Given the description of an element on the screen output the (x, y) to click on. 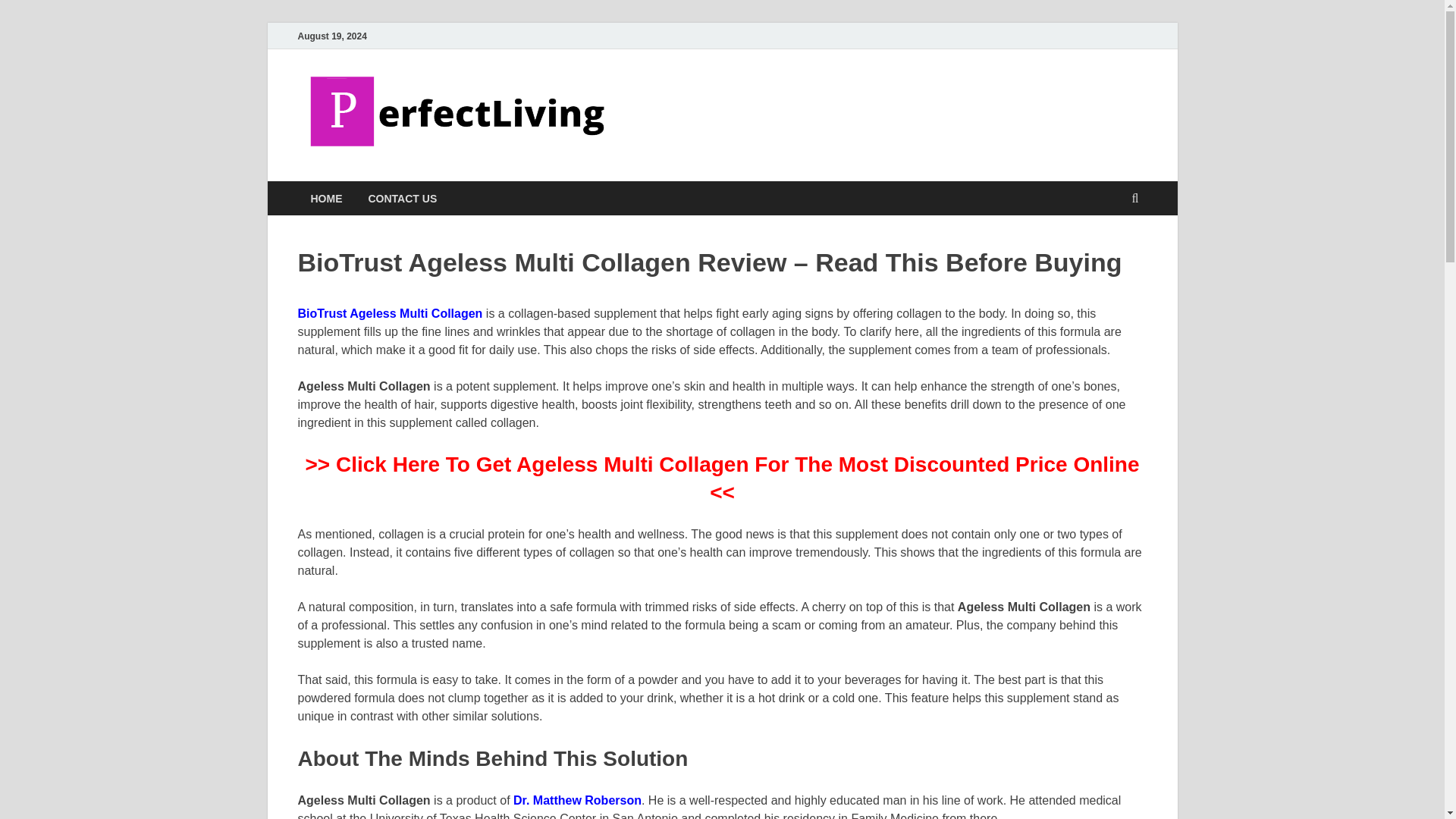
HOME (326, 197)
Dr. Matthew Roberson (577, 799)
CONTACT US (402, 197)
